Given the description of an element on the screen output the (x, y) to click on. 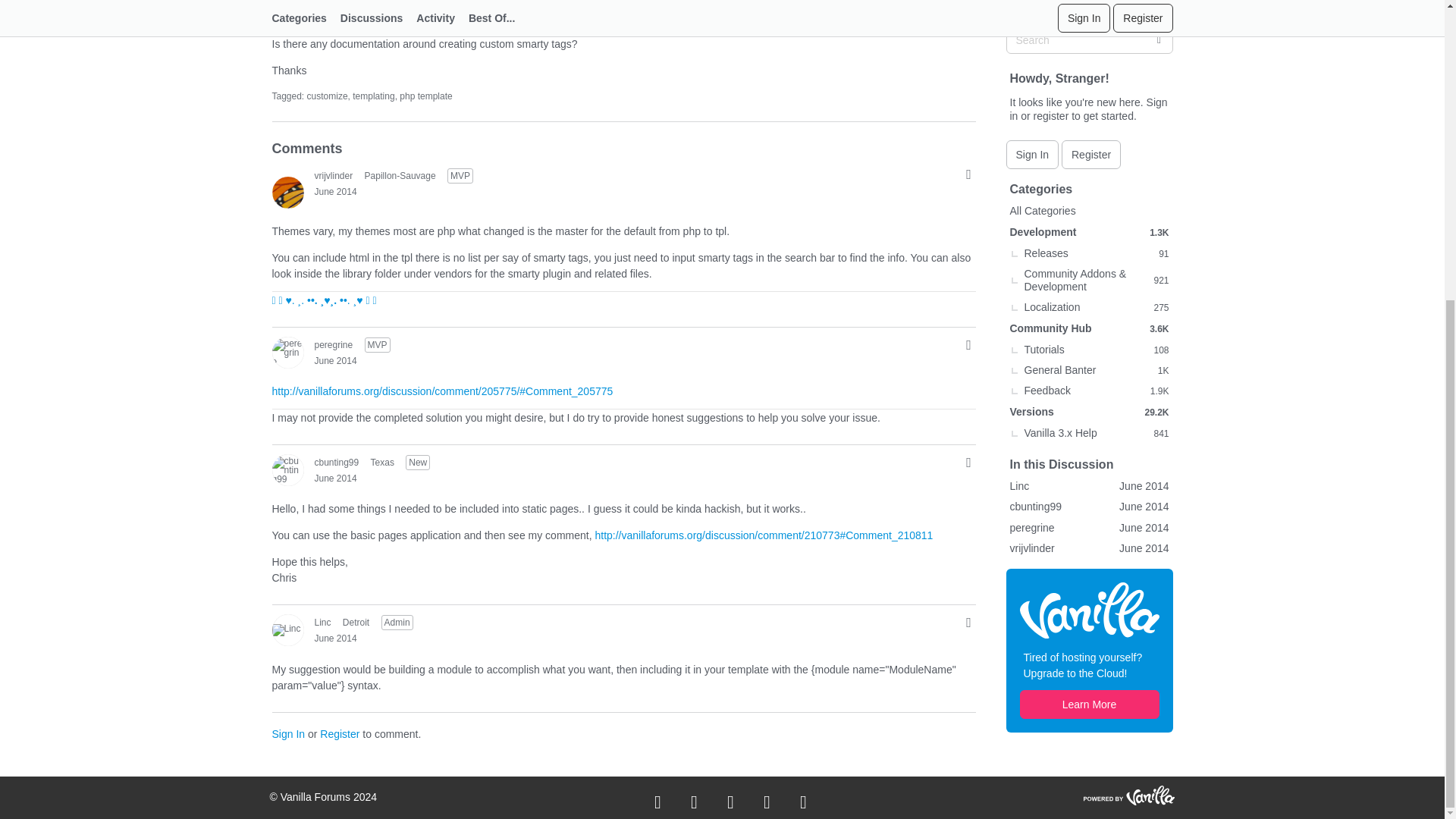
vrijvlinder (286, 192)
June 26, 2014 1:22AM (335, 359)
My Addons (322, 300)
June 2014 (335, 191)
cbunting99 (286, 469)
vrijvlinder (333, 174)
peregrine (286, 352)
Vanilla (1088, 245)
Most Valuable Poster (459, 175)
Powered By Vanilla (1128, 795)
Most Valuable Poster (377, 344)
php template (424, 95)
templating (373, 95)
June 26, 2014 1:19AM (335, 191)
New (417, 462)
